Given the description of an element on the screen output the (x, y) to click on. 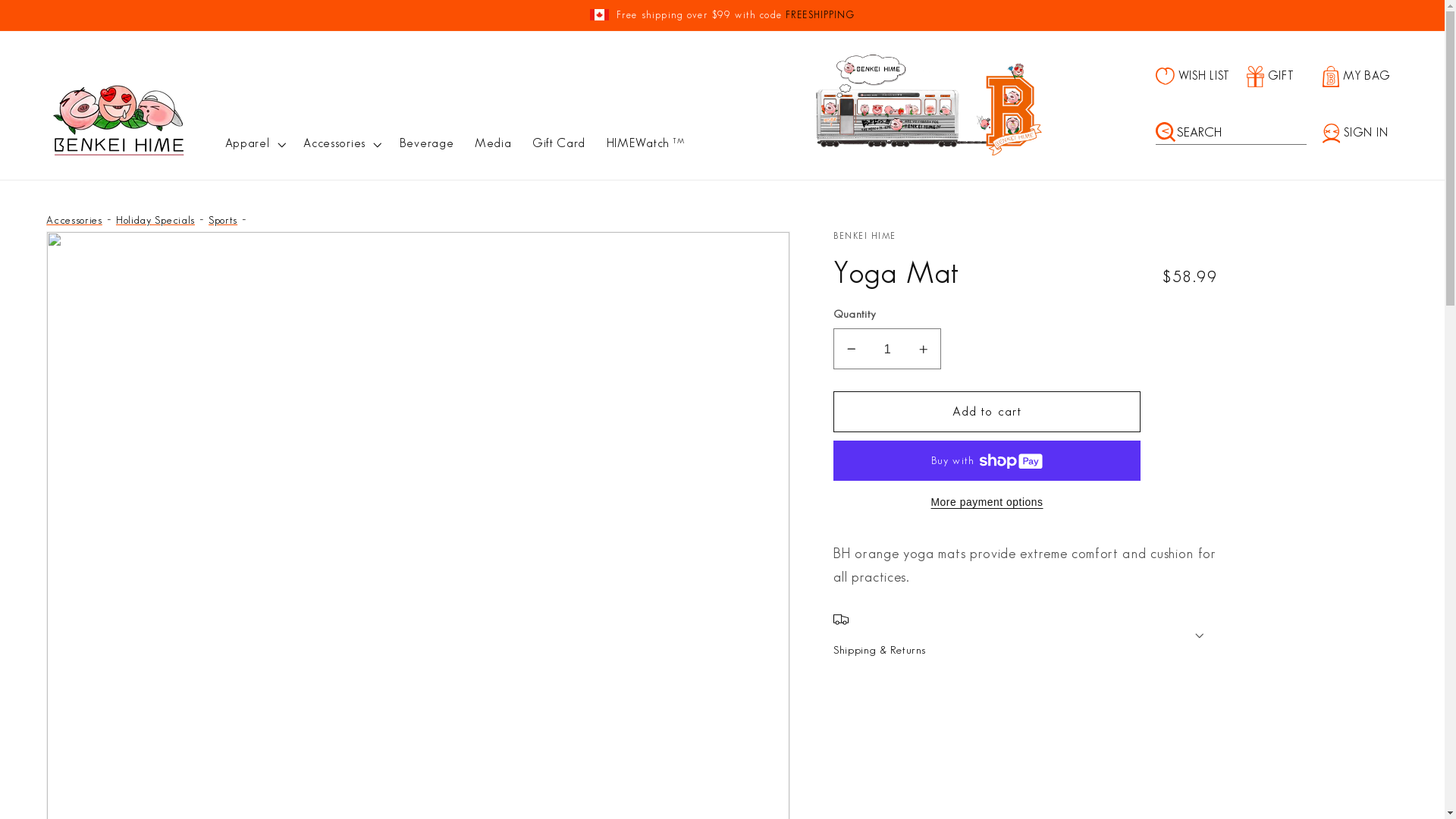
Media Element type: text (492, 143)
HIMEWatch  Element type: text (640, 143)
Holiday Specials Element type: text (155, 220)
More payment options Element type: text (986, 502)
Beverage Element type: text (426, 143)
SIGN IN
Log in Element type: text (1360, 132)
GIFT Element type: text (1284, 76)
Gift Card Element type: text (558, 143)
Increase quantity for Yoga Mat Element type: text (923, 348)
Accessories Element type: text (74, 220)
Skip to product information Element type: text (98, 250)
MY BAG
Cart Element type: text (1365, 76)
Add to cart Element type: text (986, 411)
Decrease quantity for Yoga Mat Element type: text (851, 348)
Sports Element type: text (222, 220)
WISH LIST Element type: text (1200, 75)
